Given the description of an element on the screen output the (x, y) to click on. 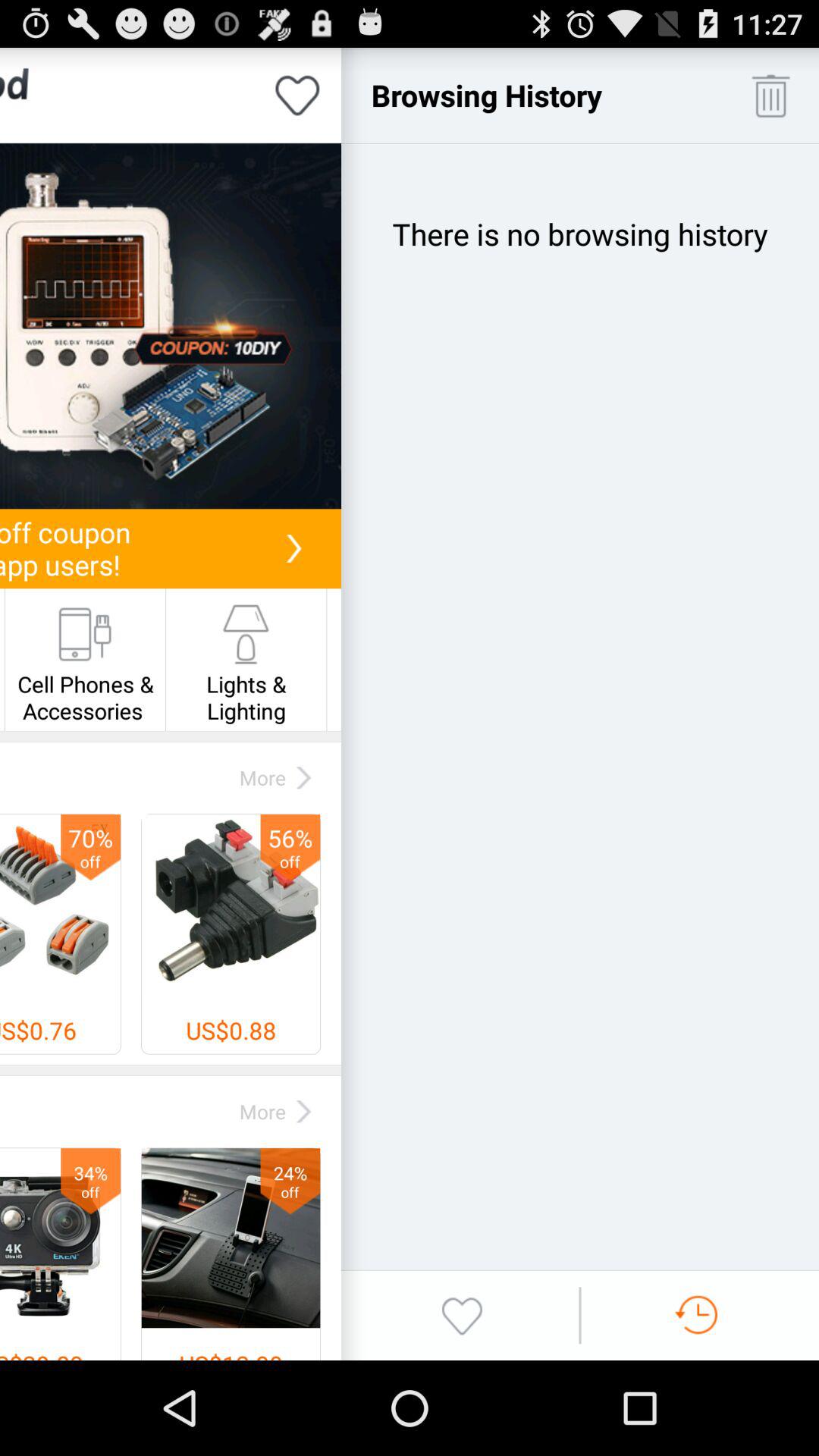
trash (770, 95)
